Given the description of an element on the screen output the (x, y) to click on. 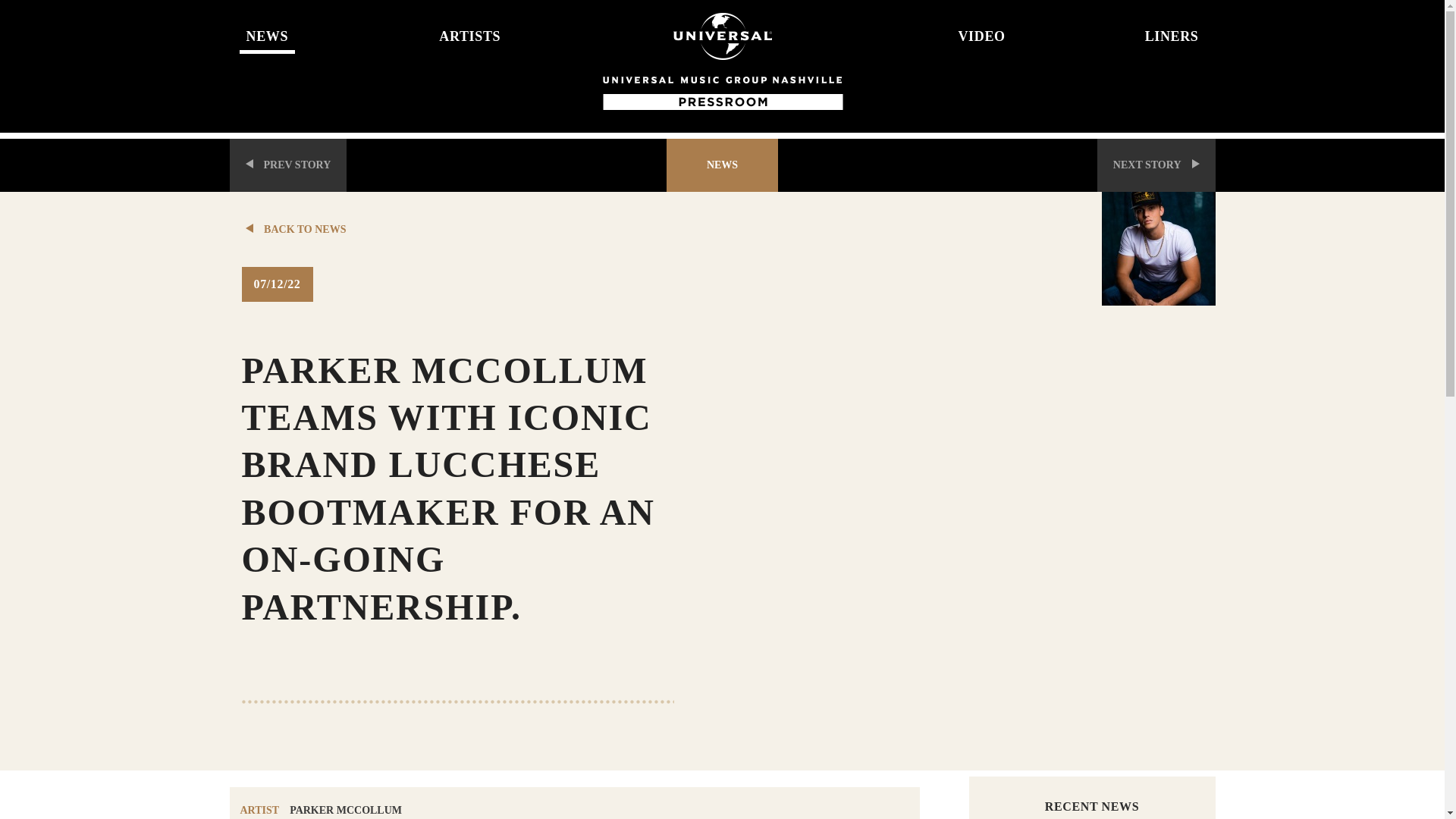
PARKER MCCOLLUM (345, 809)
LINERS (1108, 30)
ARTISTS (529, 30)
BACK TO NEWS (475, 229)
PREV STORY (287, 164)
NEWS (336, 30)
NEXT STORY (1156, 164)
VIDEO (914, 30)
